Given the description of an element on the screen output the (x, y) to click on. 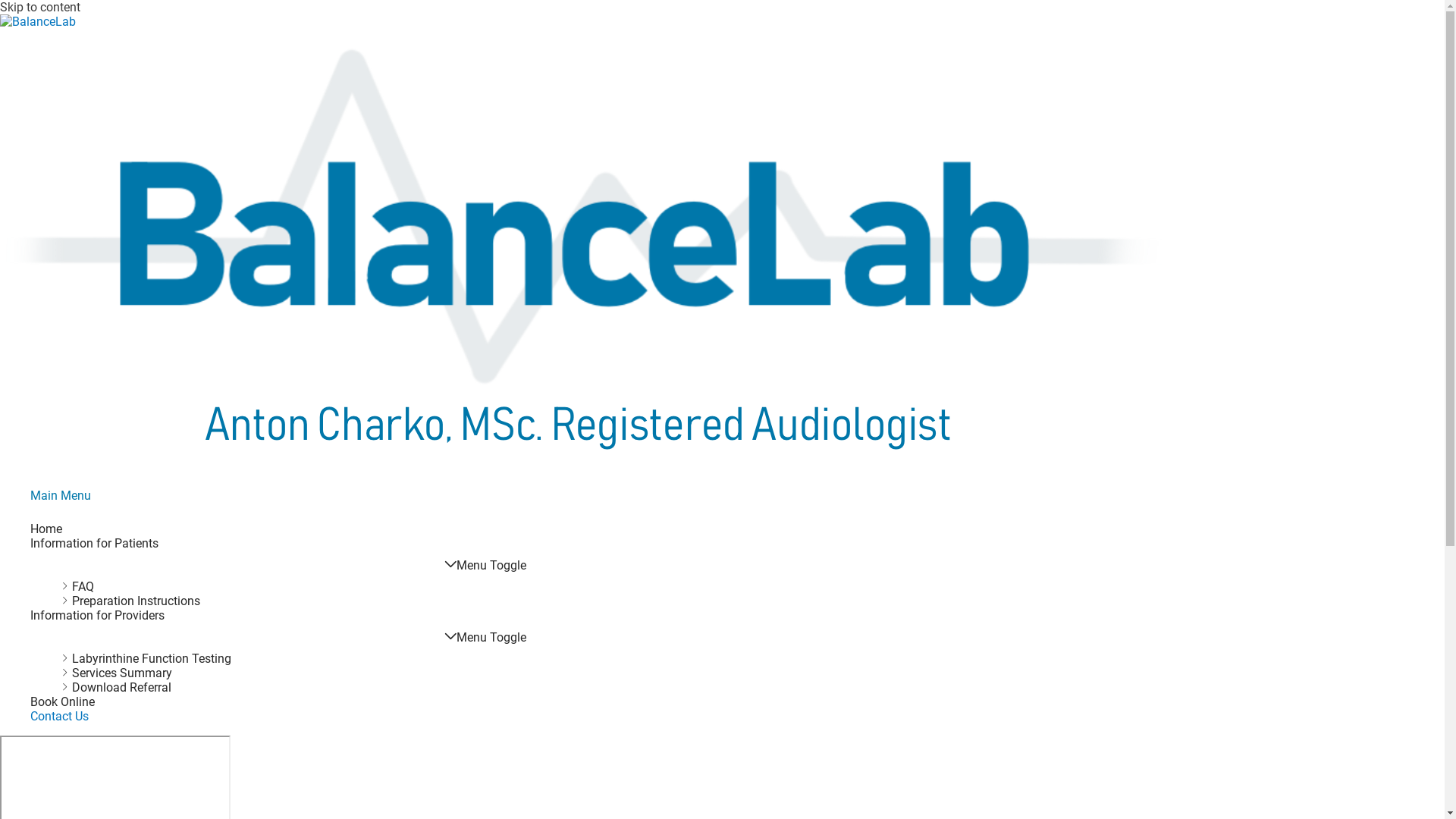
Main Menu Element type: text (60, 495)
Information for Patients Element type: text (485, 543)
Menu Toggle Element type: text (485, 564)
Skip to content Element type: text (40, 7)
Download Referral Element type: text (500, 687)
Menu Toggle Element type: text (485, 636)
Information for Providers Element type: text (485, 615)
Book Online Element type: text (485, 701)
Services Summary Element type: text (500, 672)
Preparation Instructions Element type: text (500, 600)
Labyrinthine Function Testing Element type: text (500, 658)
Home Element type: text (485, 528)
FAQ Element type: text (500, 586)
Contact Us Element type: text (485, 716)
